Given the description of an element on the screen output the (x, y) to click on. 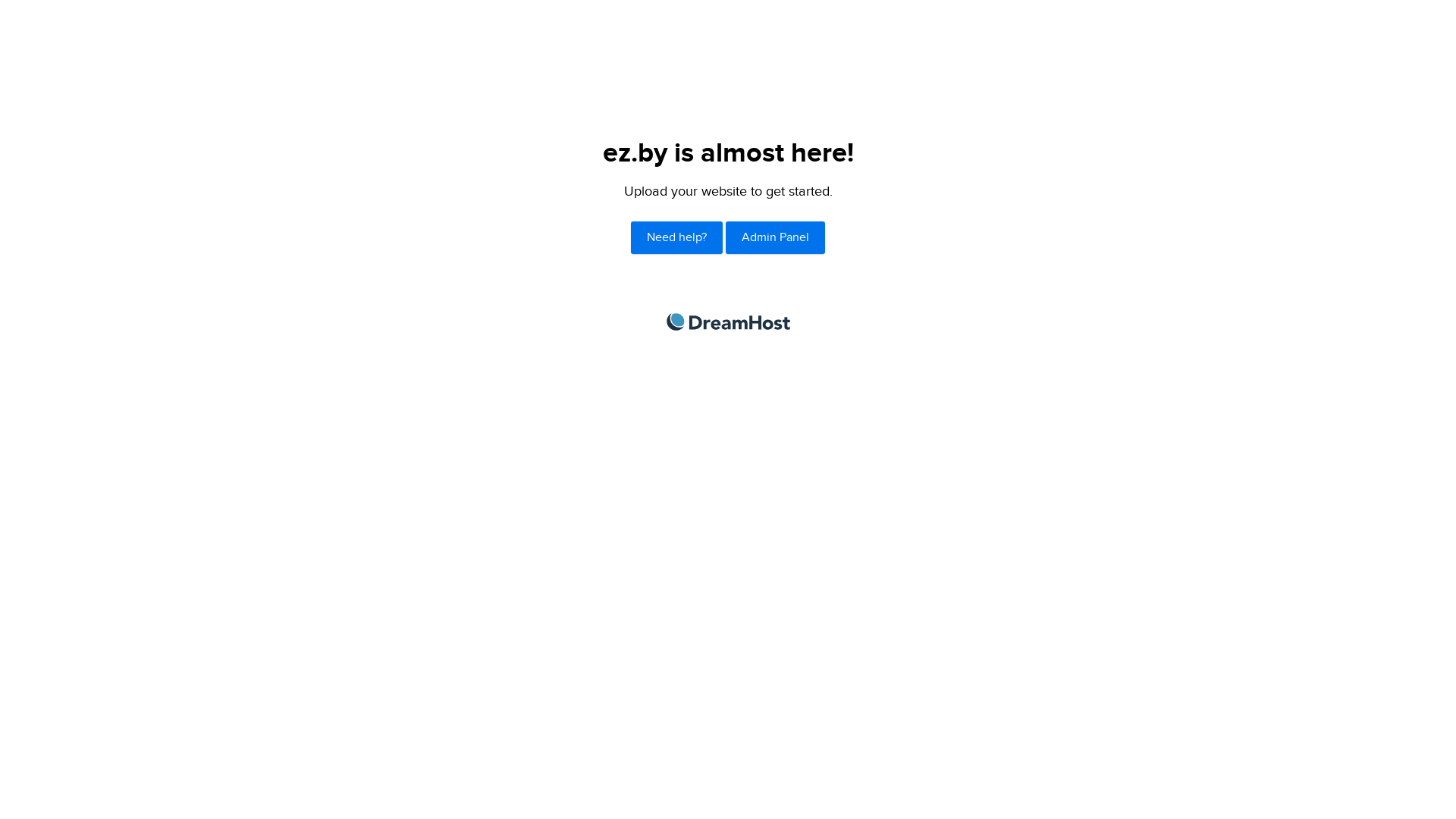
Need help? Element type: text (676, 237)
DreamHost Element type: text (727, 320)
Admin Panel Element type: text (775, 237)
